Given the description of an element on the screen output the (x, y) to click on. 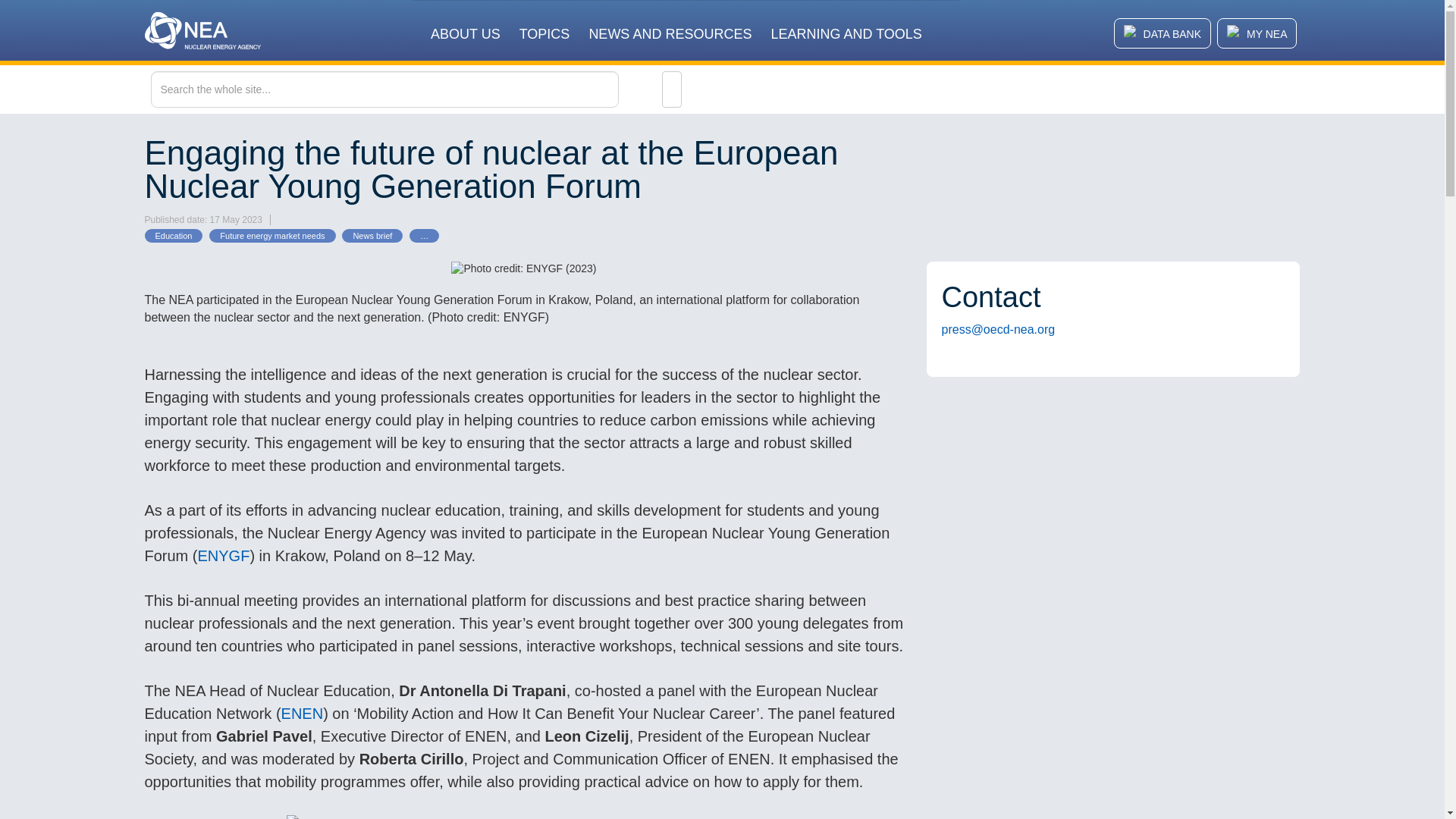
DATA BANK (1163, 33)
News brief (372, 235)
Show all categories... (424, 235)
NEWS AND RESOURCES (669, 23)
Search the whole site... (415, 89)
Education (173, 235)
MY NEA (1256, 33)
ABOUT US (465, 23)
Future energy market needs (271, 235)
